Given the description of an element on the screen output the (x, y) to click on. 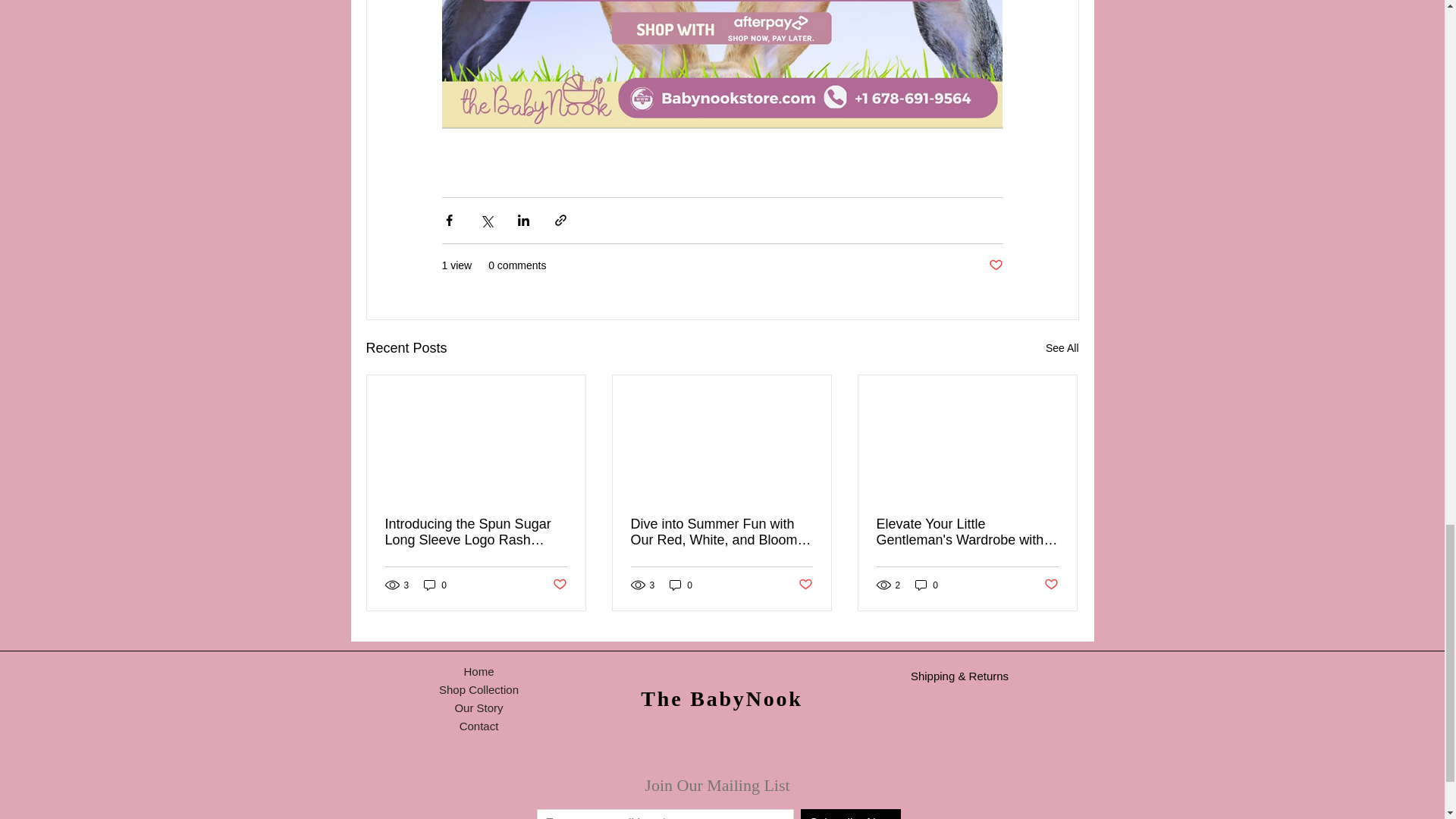
Post not marked as liked (804, 584)
Post not marked as liked (1050, 584)
0 (435, 585)
See All (1061, 348)
Post not marked as liked (995, 265)
Post not marked as liked (558, 584)
0 (926, 585)
0 (681, 585)
